Given the description of an element on the screen output the (x, y) to click on. 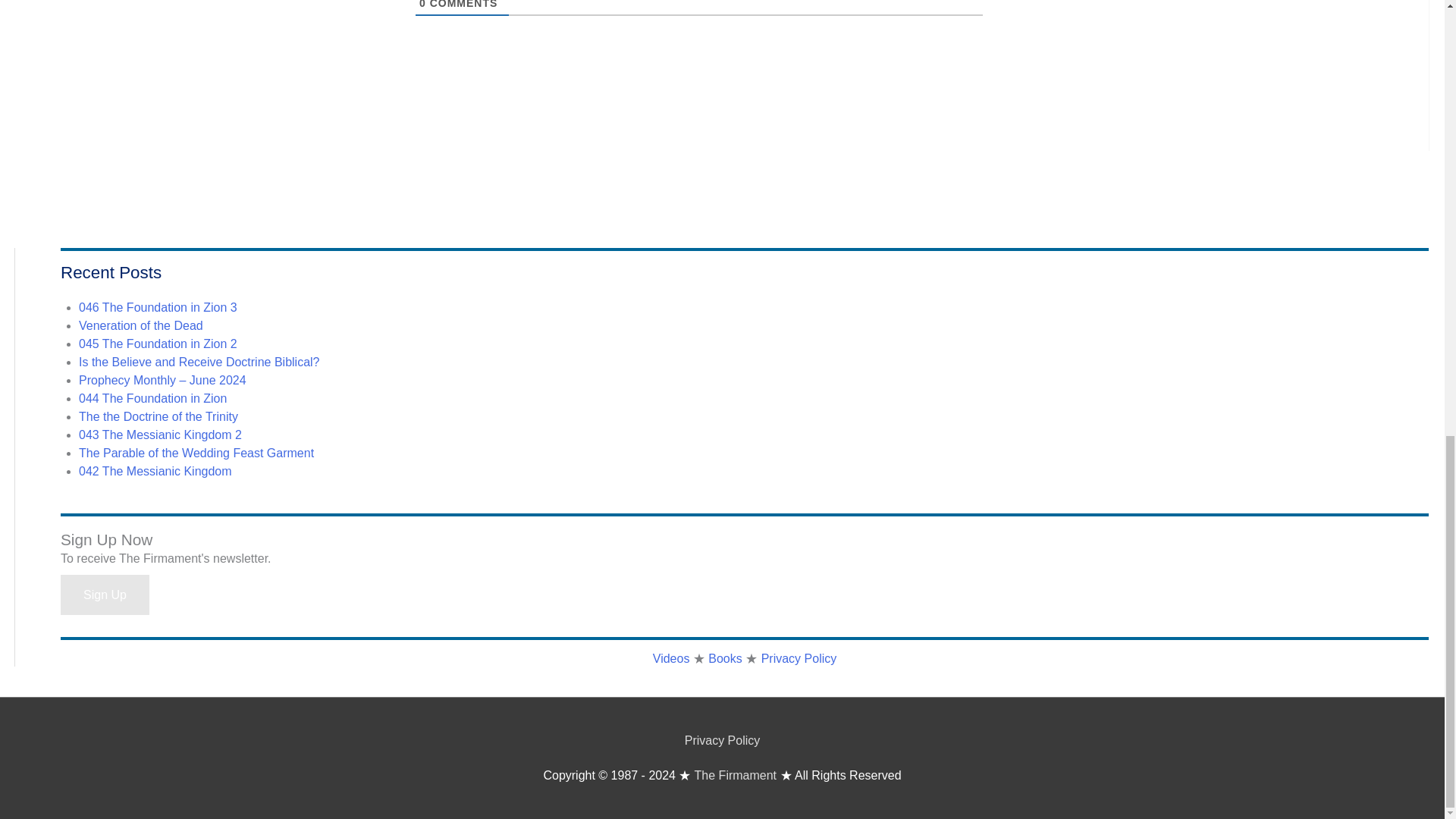
0 (422, 4)
